Given the description of an element on the screen output the (x, y) to click on. 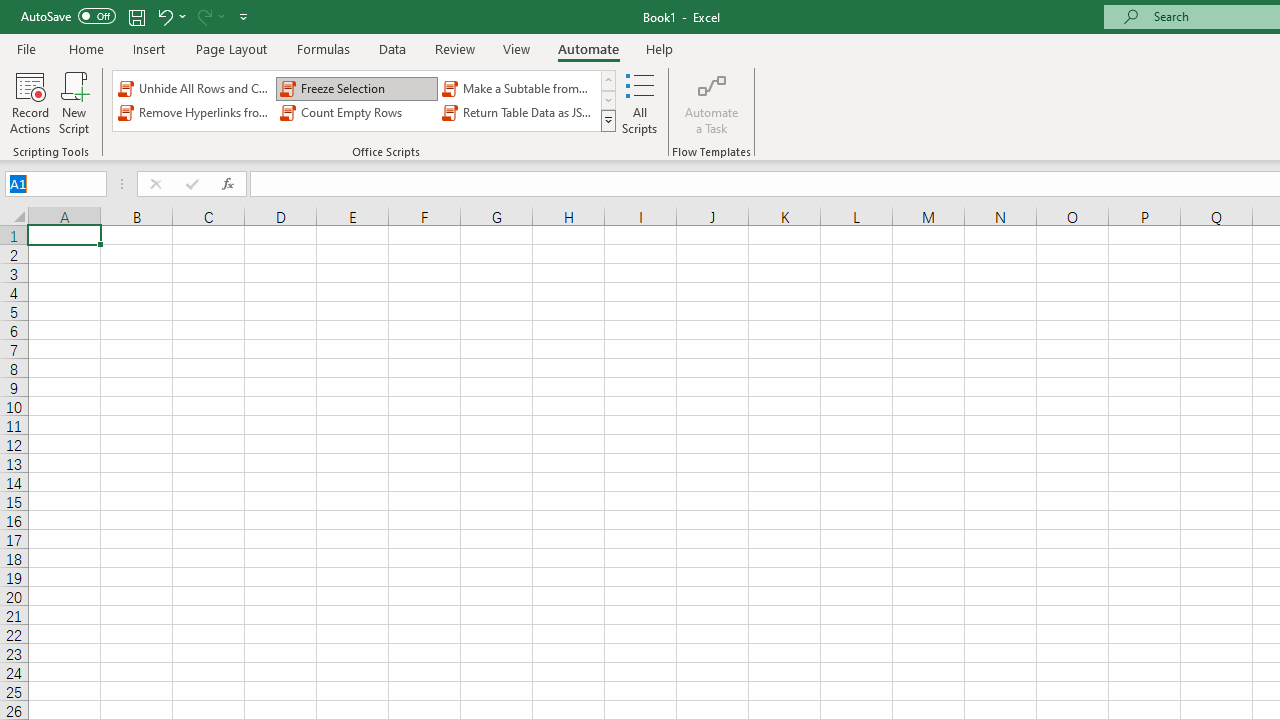
AutomationID: OfficeScriptsGallery (365, 100)
Office Scripts (608, 120)
Remove Hyperlinks from Sheet (194, 112)
Automate a Task (712, 102)
